Given the description of an element on the screen output the (x, y) to click on. 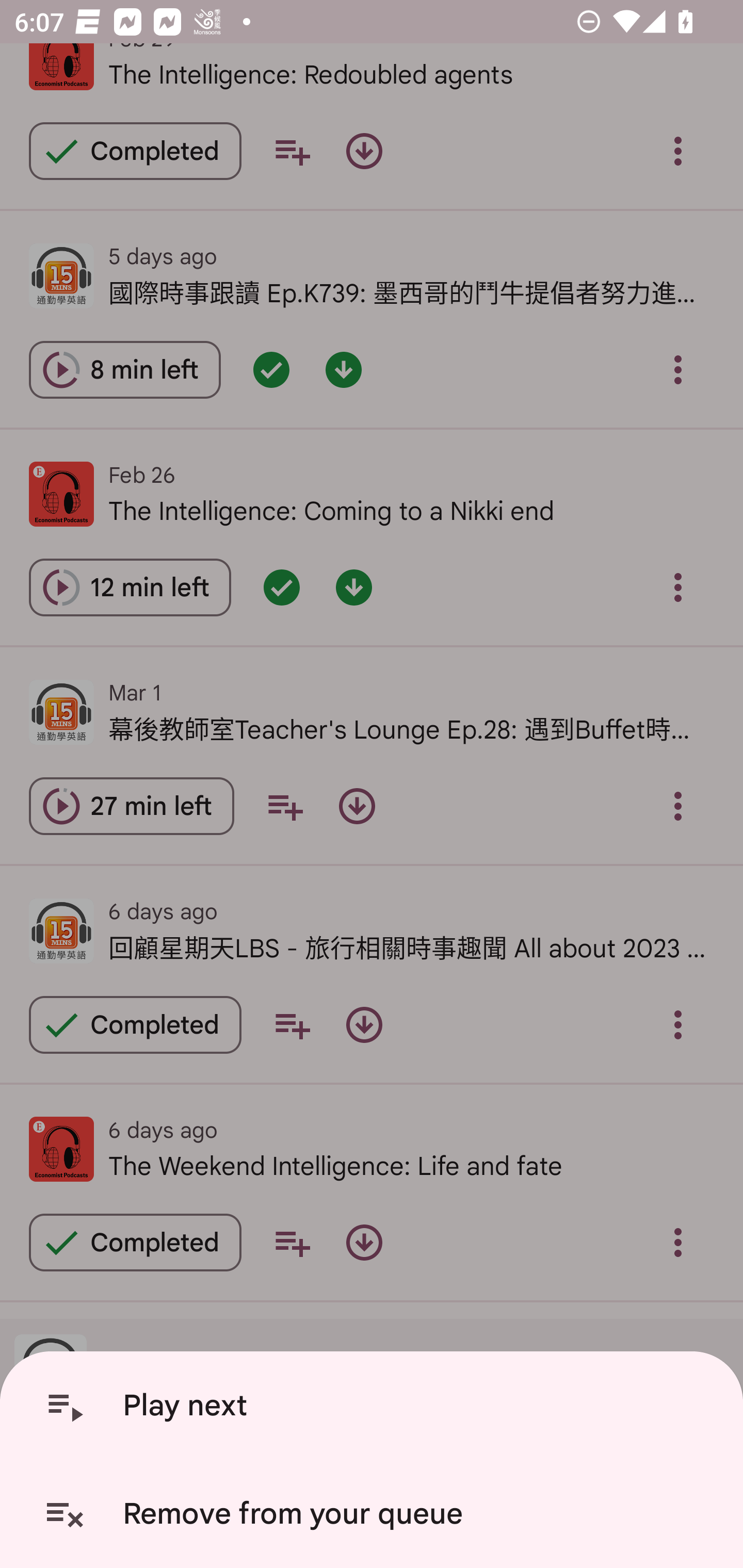
Play next (375, 1405)
Remove from your queue (375, 1513)
